Given the description of an element on the screen output the (x, y) to click on. 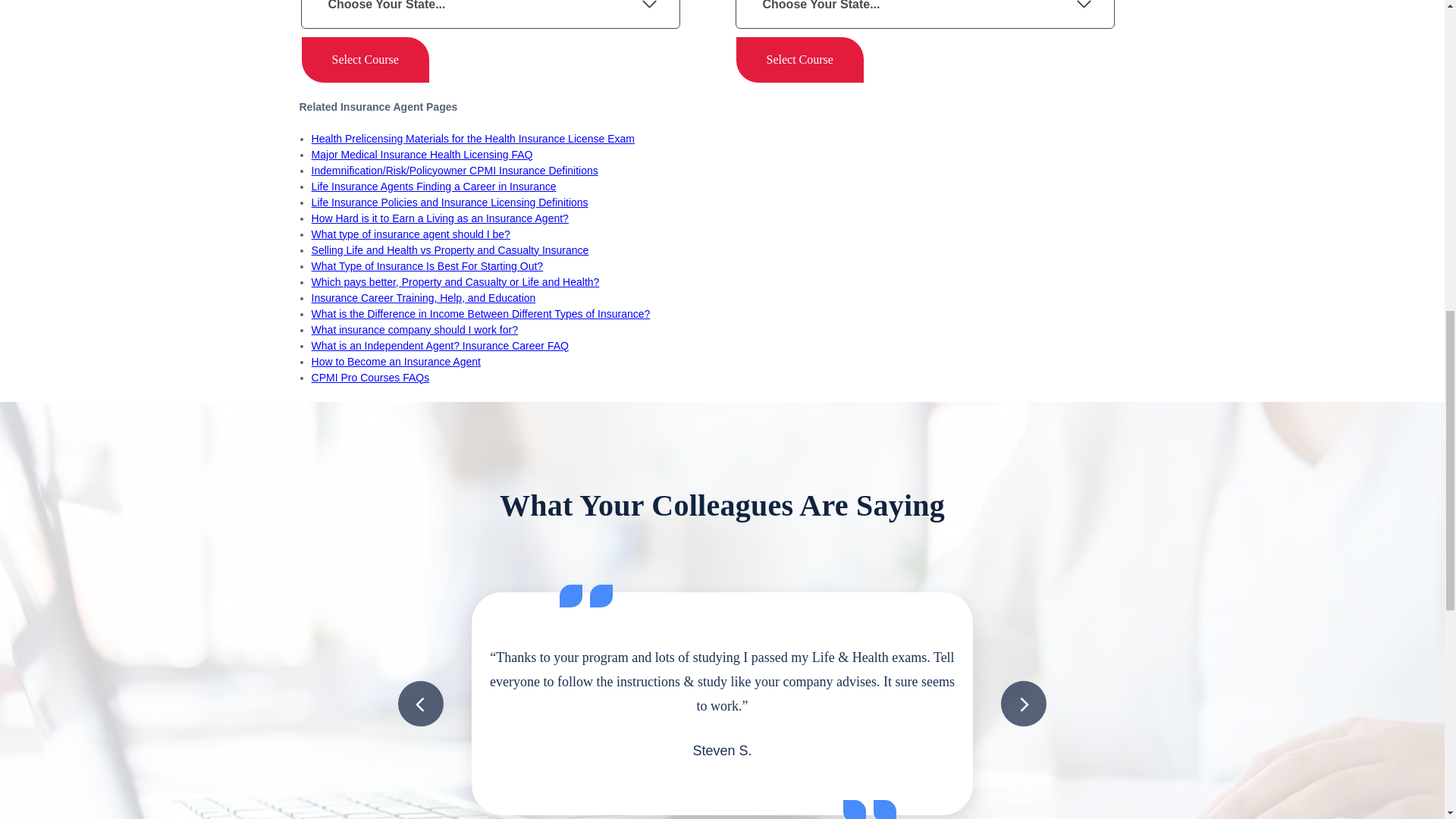
Major Medical Insurance Health Licensing FAQ (421, 154)
CPMI Pro Courses FAQs (370, 377)
What is an Independent Agent? Insurance Career FAQ (440, 345)
Insurance Career Training, Help, and Education (423, 297)
Life Insurance Policies and Insurance Licensing Definitions (449, 202)
What insurance company should I work for? (414, 329)
Select Course (799, 59)
What type of insurance agent should I be? (411, 234)
